Given the description of an element on the screen output the (x, y) to click on. 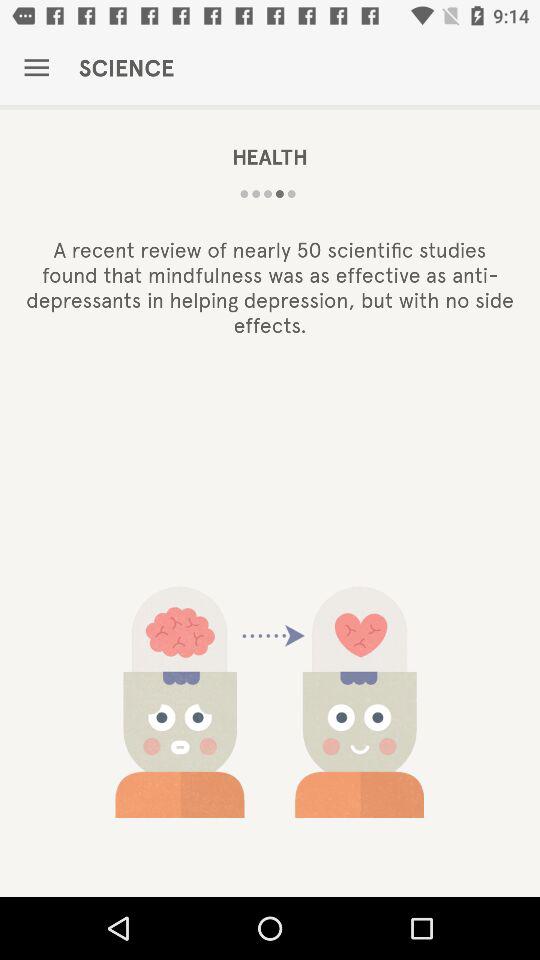
launch the item to the left of the science (36, 68)
